Given the description of an element on the screen output the (x, y) to click on. 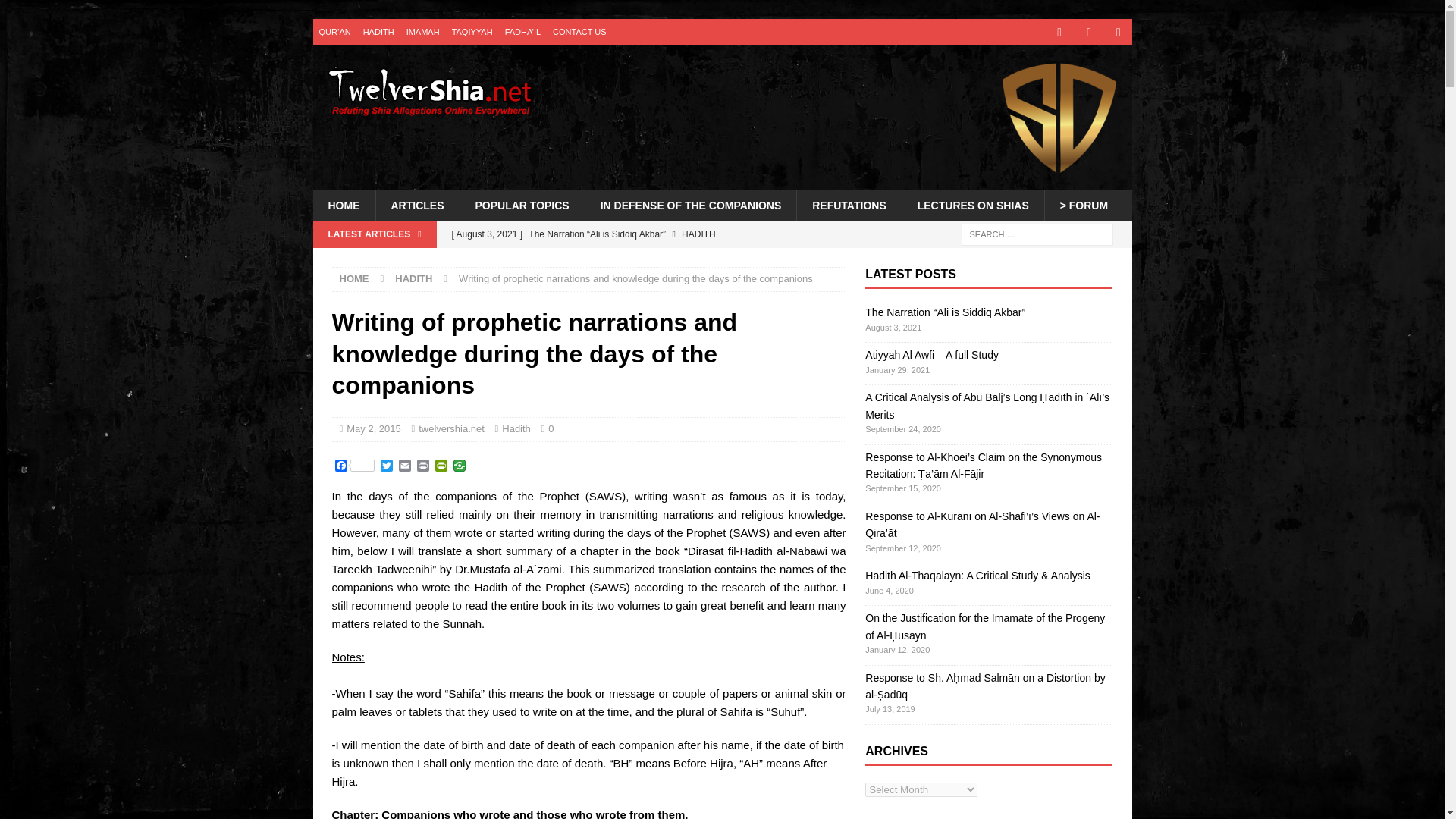
LECTURES ON SHIAS (972, 205)
Print (422, 466)
Facebook (354, 466)
POPULAR TOPICS (522, 205)
CONTACT US (579, 31)
Sunnah Discourse (1059, 117)
Email (404, 466)
Print (422, 466)
May 2, 2015 (373, 428)
HADITH (378, 31)
